Given the description of an element on the screen output the (x, y) to click on. 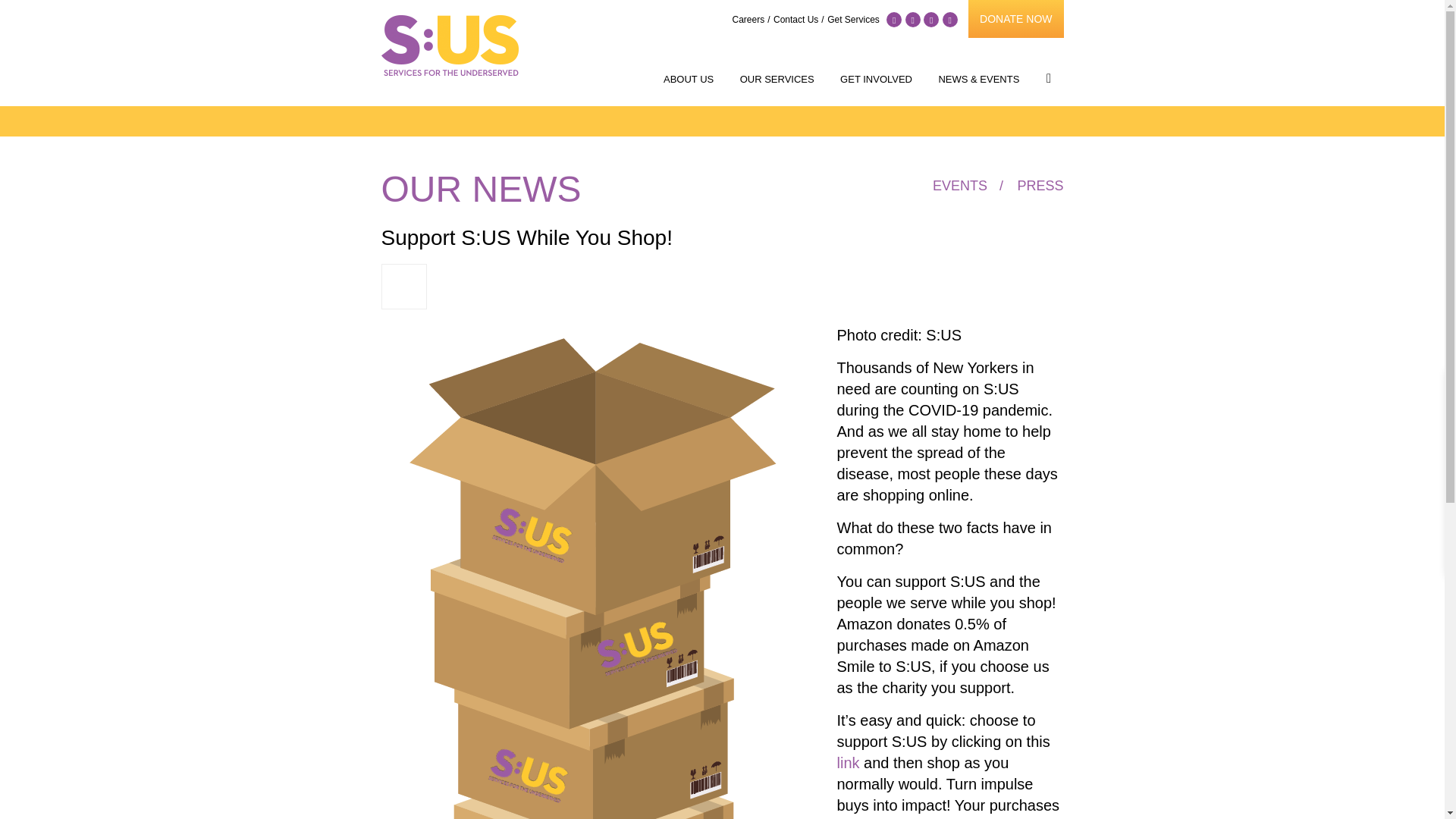
tw (912, 19)
li (950, 19)
ig (931, 19)
Get Services (853, 19)
Contact Us (798, 19)
S (1048, 78)
DONATE NOW (1015, 18)
OUR SERVICES (777, 78)
fb (893, 19)
ABOUT US (688, 78)
Careers (751, 19)
GET INVOLVED (875, 78)
